Given the description of an element on the screen output the (x, y) to click on. 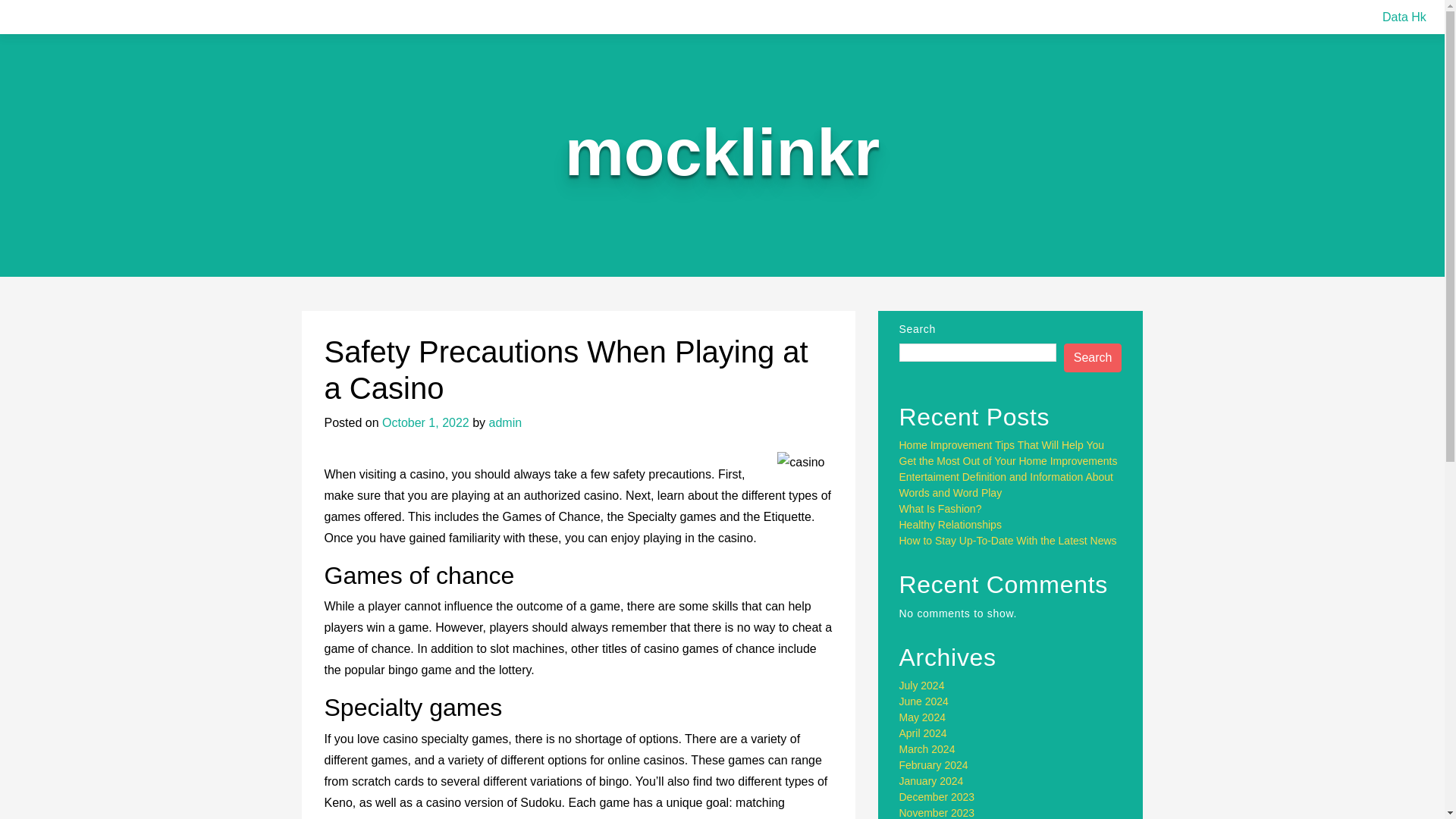
October 1, 2022 (424, 422)
Healthy Relationships (950, 524)
May 2024 (921, 717)
Search (1093, 357)
November 2023 (937, 812)
How to Stay Up-To-Date With the Latest News (1007, 540)
admin (505, 422)
December 2023 (937, 797)
Data Hk (1403, 16)
January 2024 (931, 780)
Data Hk (1403, 16)
July 2024 (921, 685)
February 2024 (933, 765)
